Given the description of an element on the screen output the (x, y) to click on. 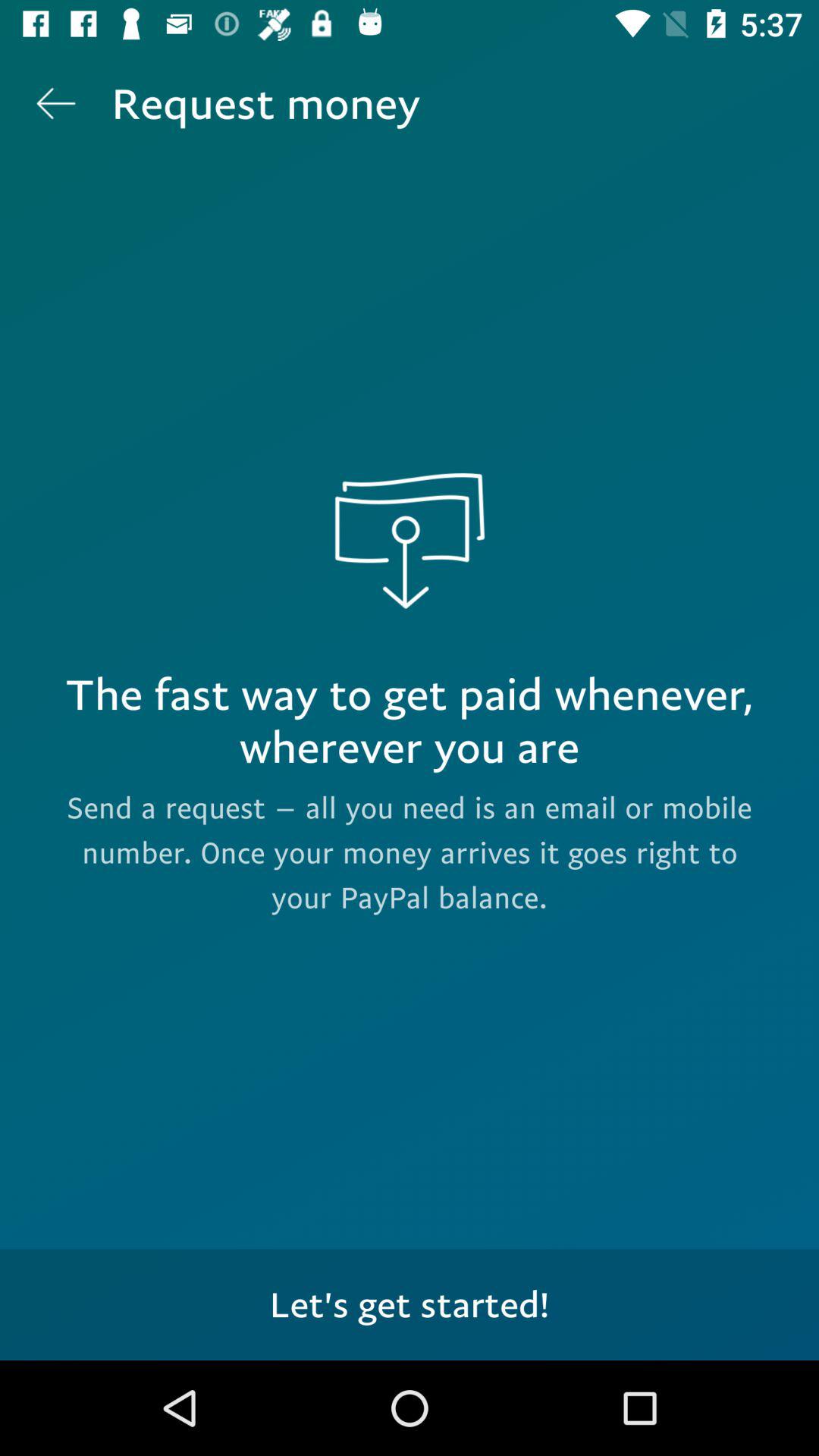
turn off icon to the left of the request money (55, 103)
